Given the description of an element on the screen output the (x, y) to click on. 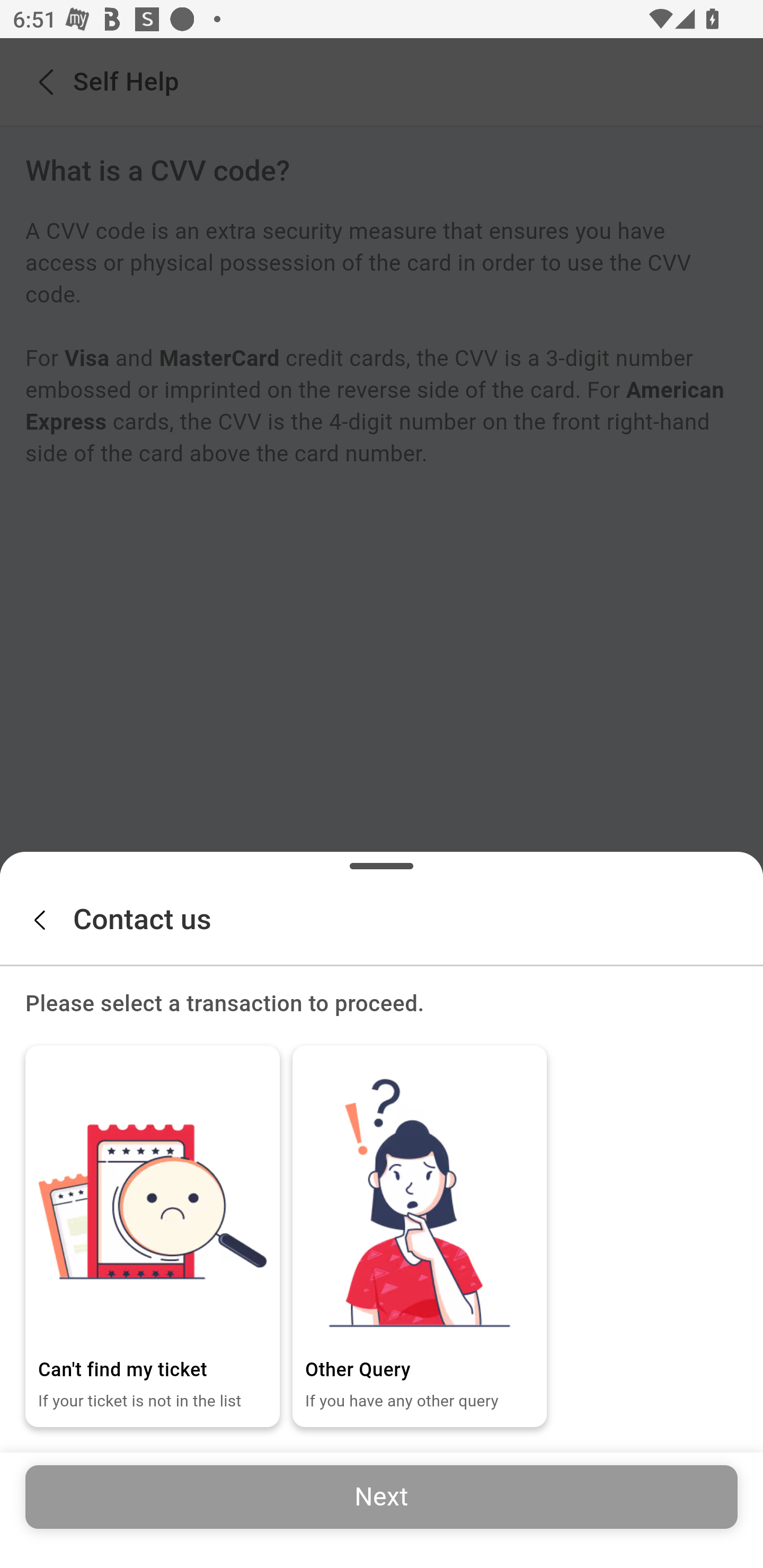
Can't find my ticket (152, 1200)
Other Query (419, 1200)
Next (381, 1496)
